Given the description of an element on the screen output the (x, y) to click on. 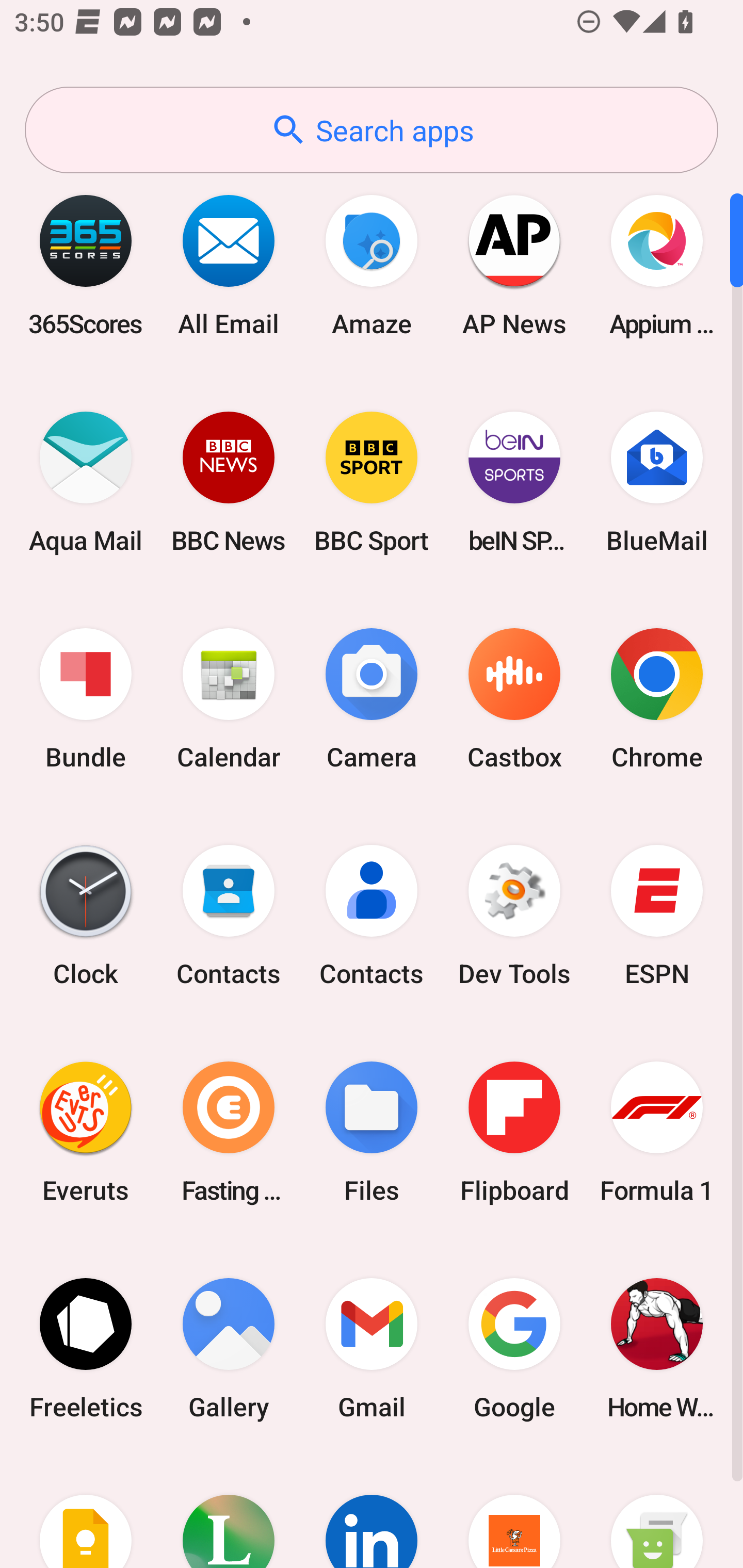
  Search apps (371, 130)
365Scores (85, 264)
All Email (228, 264)
Amaze (371, 264)
AP News (514, 264)
Appium Settings (656, 264)
Aqua Mail (85, 482)
BBC News (228, 482)
BBC Sport (371, 482)
beIN SPORTS (514, 482)
BlueMail (656, 482)
Bundle (85, 699)
Calendar (228, 699)
Camera (371, 699)
Castbox (514, 699)
Chrome (656, 699)
Clock (85, 915)
Contacts (228, 915)
Contacts (371, 915)
Dev Tools (514, 915)
ESPN (656, 915)
Everuts (85, 1131)
Fasting Coach (228, 1131)
Files (371, 1131)
Flipboard (514, 1131)
Formula 1 (656, 1131)
Freeletics (85, 1348)
Gallery (228, 1348)
Gmail (371, 1348)
Google (514, 1348)
Home Workout (656, 1348)
Keep Notes (85, 1512)
Lifesum (228, 1512)
LinkedIn (371, 1512)
Little Caesars Pizza (514, 1512)
Messaging (656, 1512)
